Given the description of an element on the screen output the (x, y) to click on. 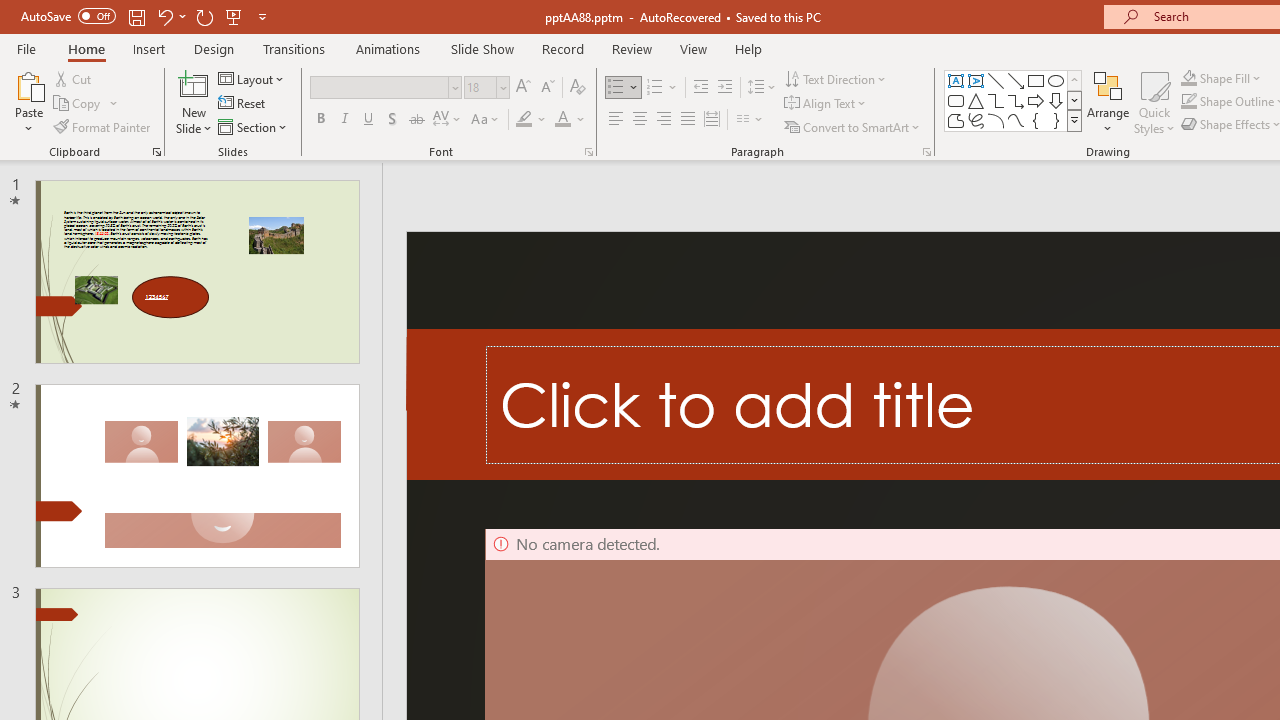
From Beginning (234, 15)
Text Box (955, 80)
Justify (687, 119)
Insert (149, 48)
Redo (204, 15)
Class: NetUIImage (1075, 120)
Rectangle (1035, 80)
Undo (170, 15)
Font (379, 87)
New Slide (193, 84)
Align Left (616, 119)
